Given the description of an element on the screen output the (x, y) to click on. 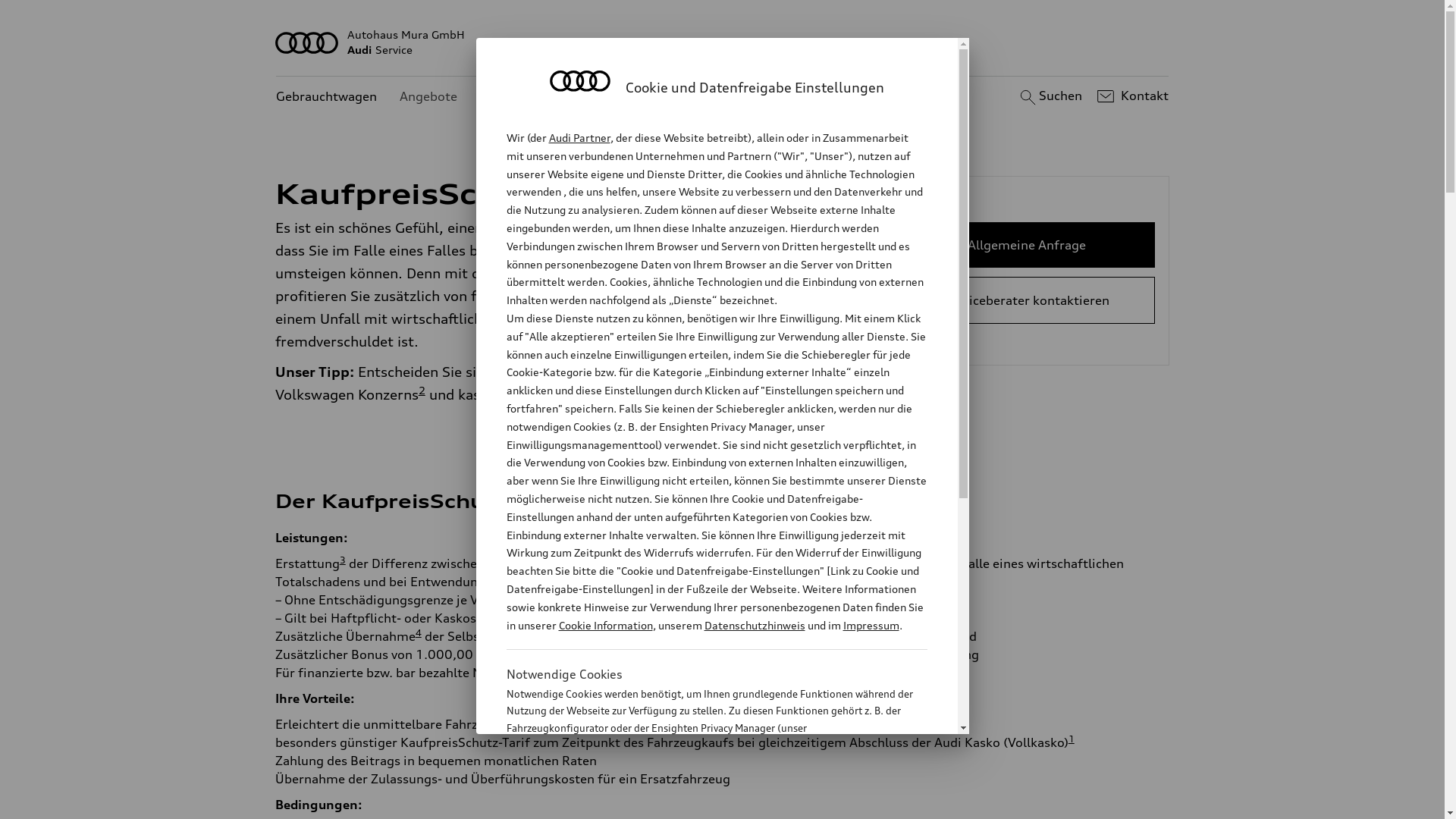
1 Element type: text (562, 185)
Kontakt Element type: text (1130, 96)
1 Element type: text (615, 269)
Impressum Element type: text (871, 624)
Autohaus Mura GmbH
AudiService Element type: text (722, 42)
Angebote Element type: text (428, 96)
2 Element type: text (421, 390)
Suchen Element type: text (1049, 96)
Cookie Information Element type: text (605, 624)
4 Element type: text (418, 632)
Audi Partner Element type: text (579, 137)
3 Element type: text (342, 559)
Allgemeine Anfrage Element type: text (1025, 244)
1 Element type: text (828, 632)
2 Element type: text (867, 650)
Gebrauchtwagen Element type: text (326, 96)
Cookie Information Element type: text (700, 802)
1 Element type: text (1071, 738)
Serviceberater kontaktieren Element type: text (1025, 299)
Kundenservice Element type: text (523, 96)
Datenschutzhinweis Element type: text (753, 624)
